Given the description of an element on the screen output the (x, y) to click on. 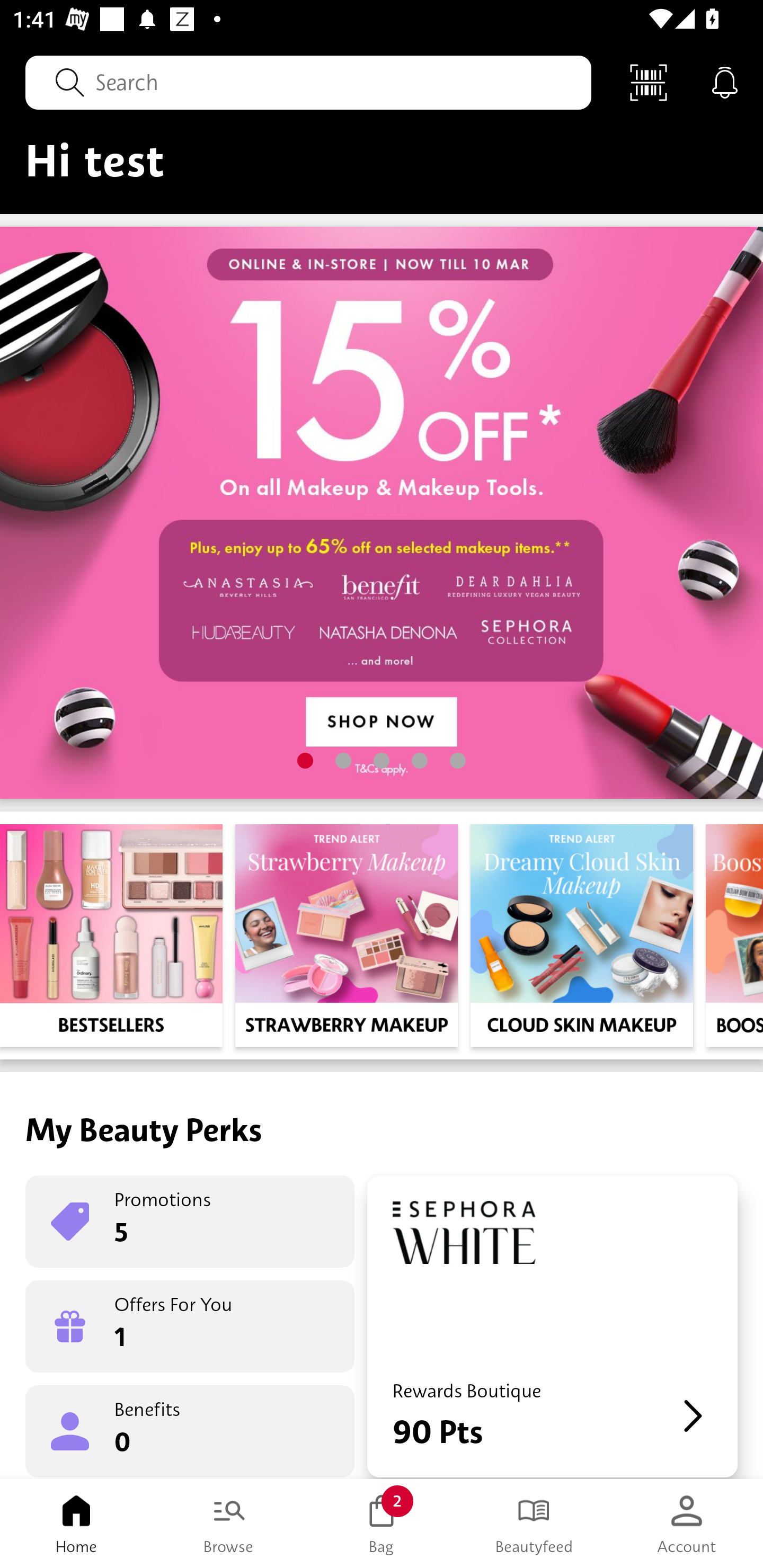
Scan Code (648, 81)
Notifications (724, 81)
Search (308, 81)
Promotions 5 (189, 1221)
Rewards Boutique 90 Pts (552, 1326)
Offers For You 1 (189, 1326)
Benefits 0 (189, 1430)
Browse (228, 1523)
Bag 2 Bag (381, 1523)
Beautyfeed (533, 1523)
Account (686, 1523)
